Given the description of an element on the screen output the (x, y) to click on. 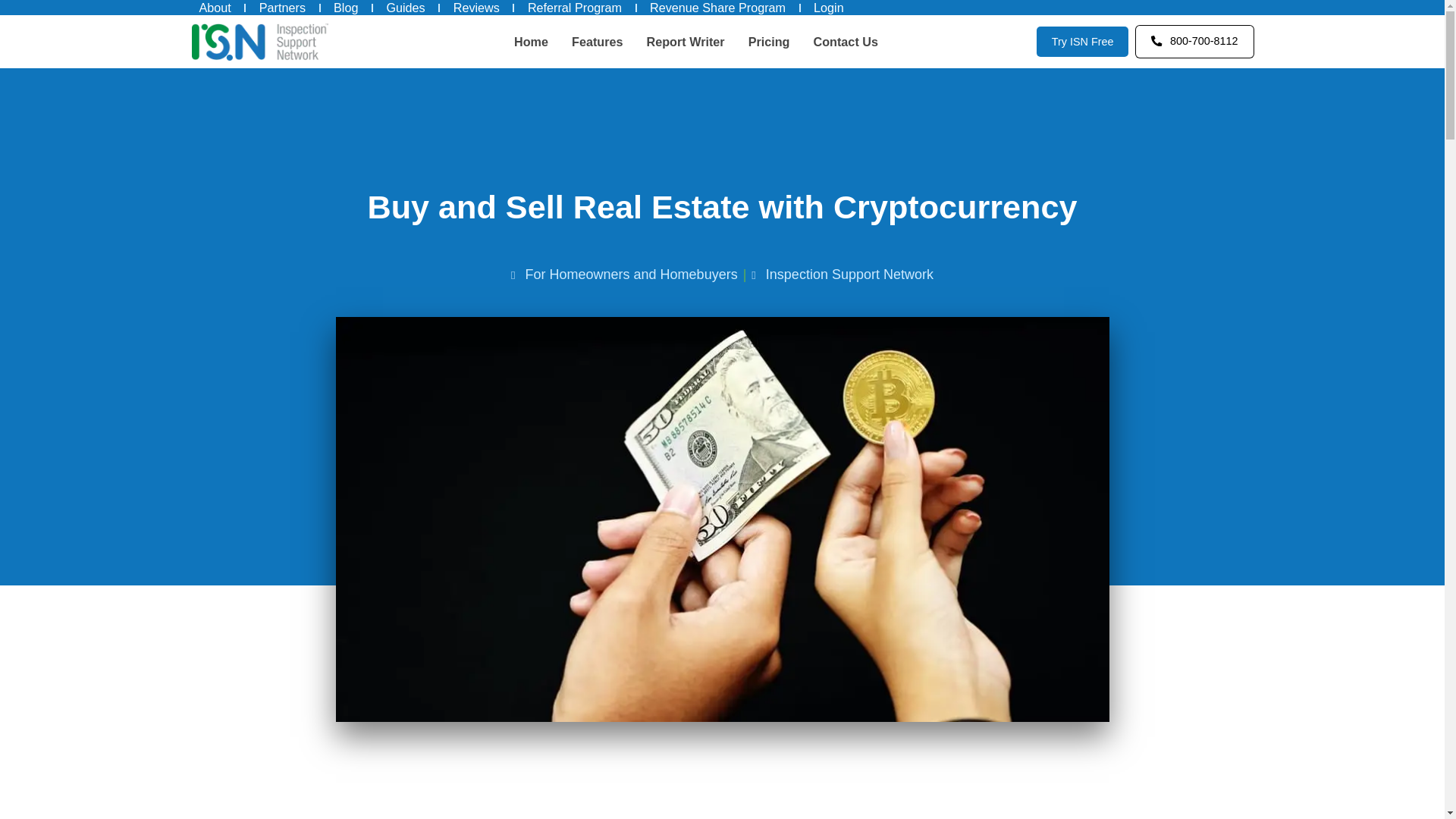
Referral Program (573, 7)
Blog (345, 7)
About (214, 7)
Revenue Share Program (717, 7)
Reviews (475, 7)
Guides (405, 7)
Login (828, 7)
Partners (282, 7)
View All posts by Inspection Support Network (849, 274)
Contact Us (845, 41)
